Given the description of an element on the screen output the (x, y) to click on. 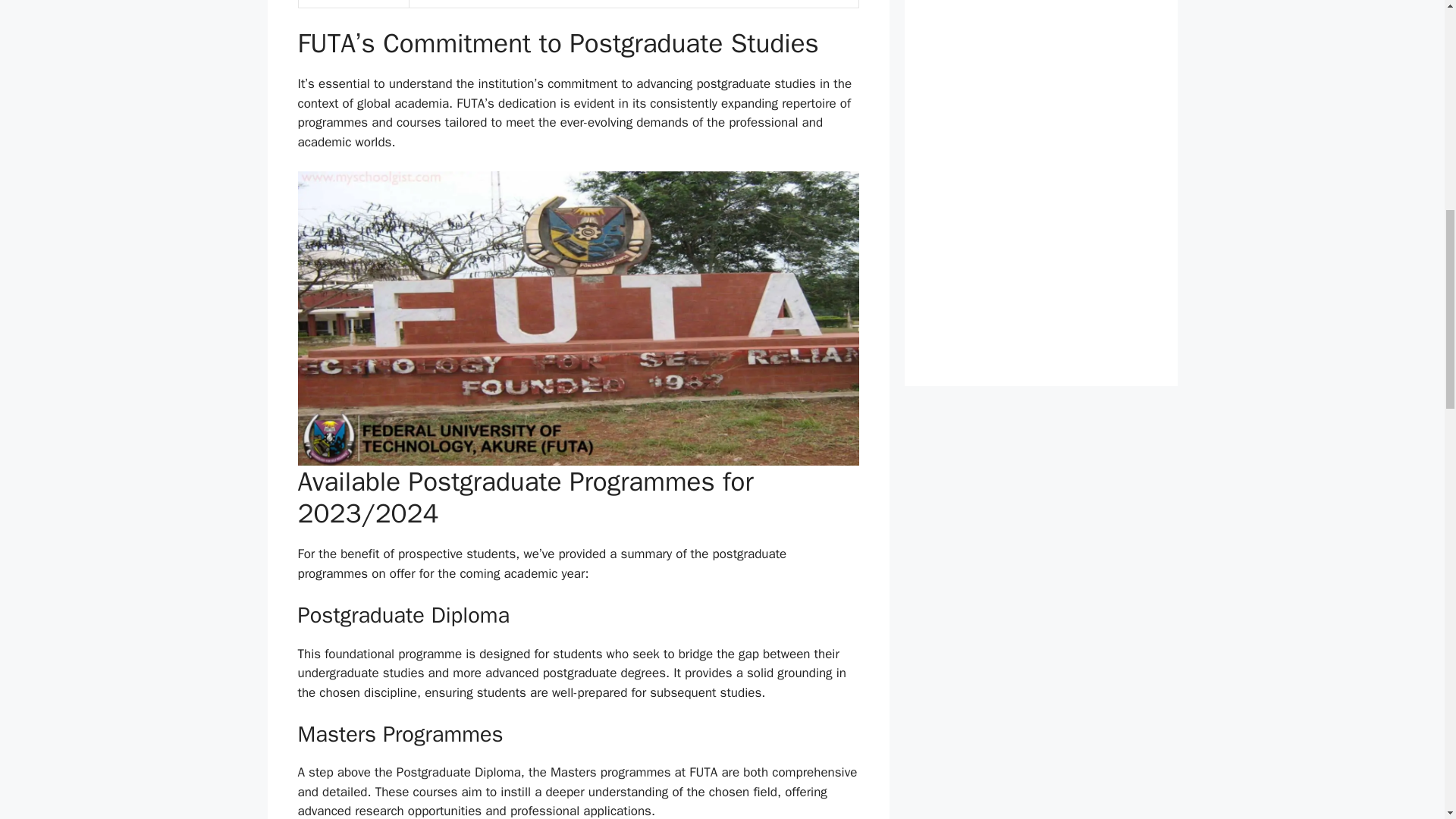
Scroll back to top (1406, 720)
